Given the description of an element on the screen output the (x, y) to click on. 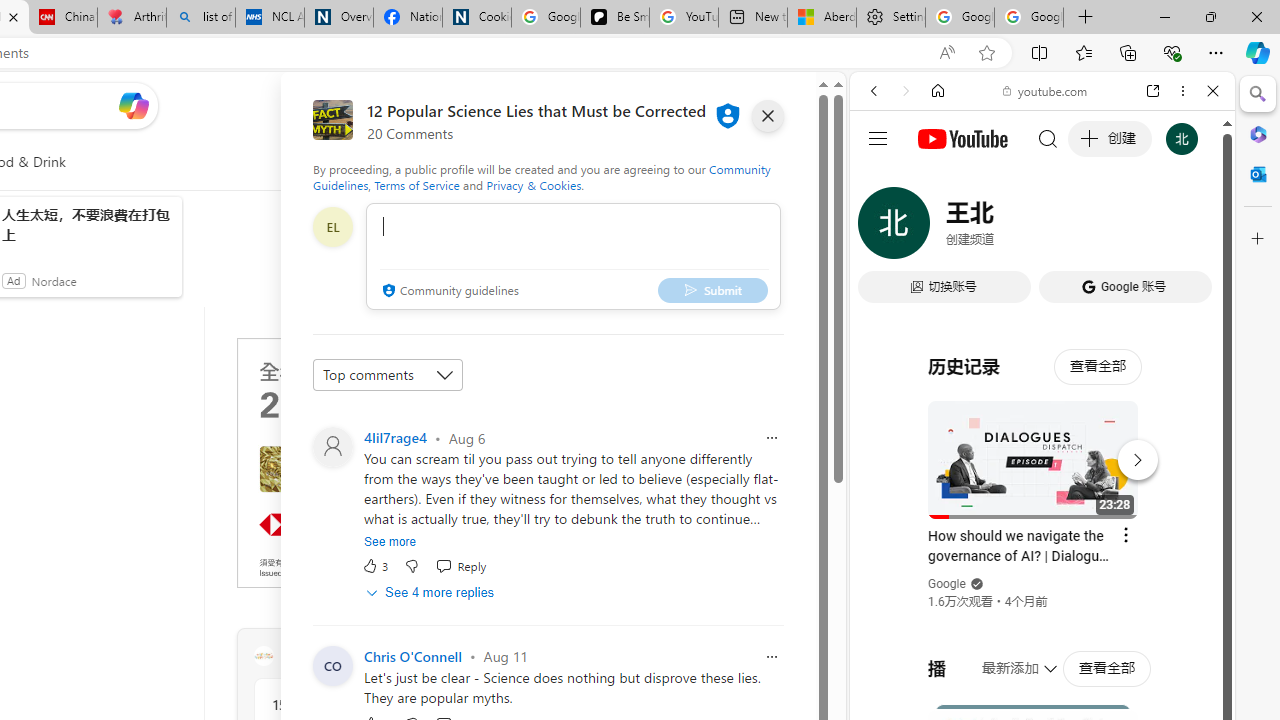
Google (947, 584)
Privacy & Cookies (534, 184)
comment-box (573, 256)
Class: qc-adchoices-link top-right  (526, 344)
YouTube (1034, 296)
Reply Reply Comment (461, 565)
#you (1042, 445)
Profile Picture (333, 446)
